Given the description of an element on the screen output the (x, y) to click on. 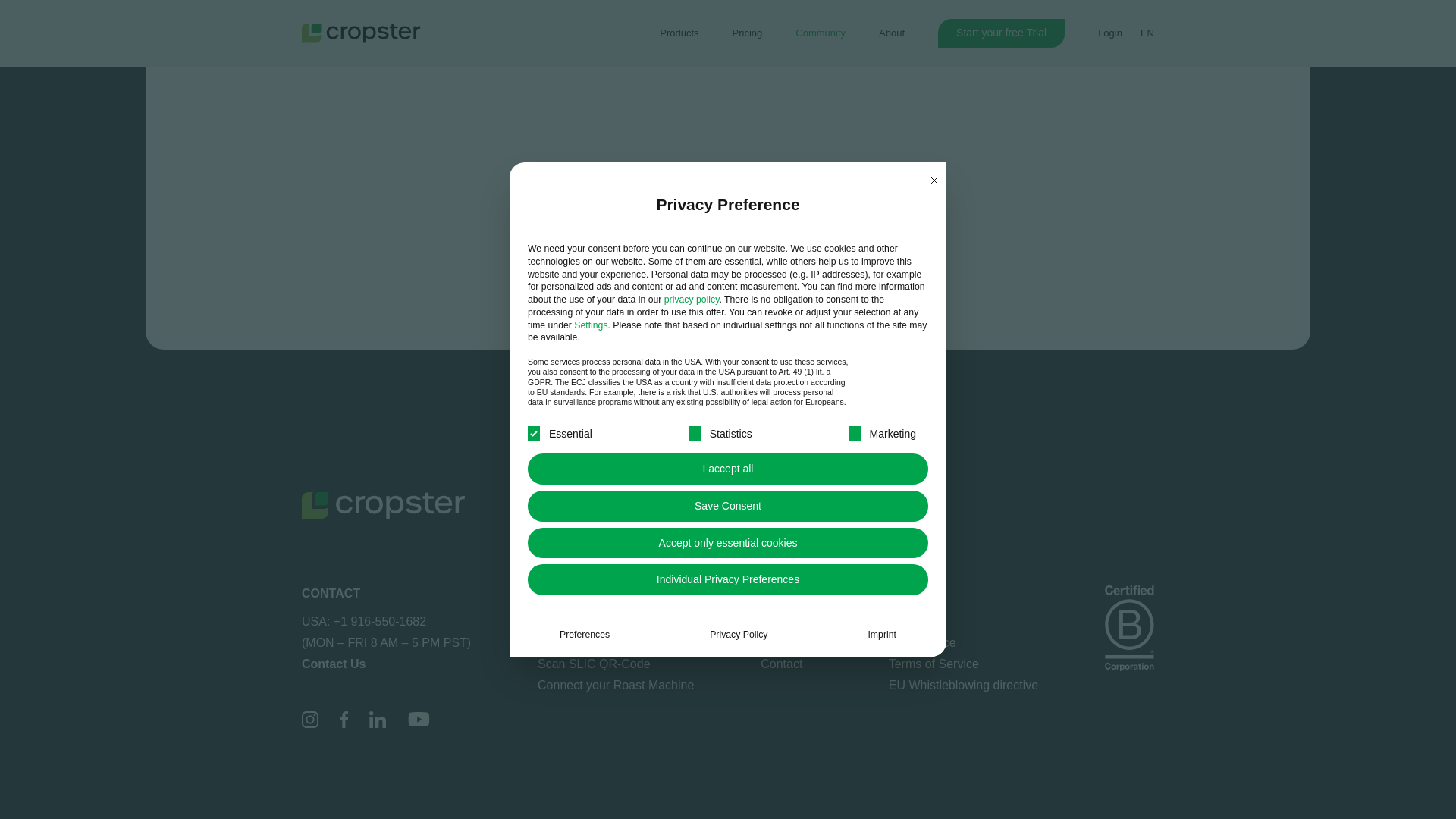
Submit (448, 293)
